Given the description of an element on the screen output the (x, y) to click on. 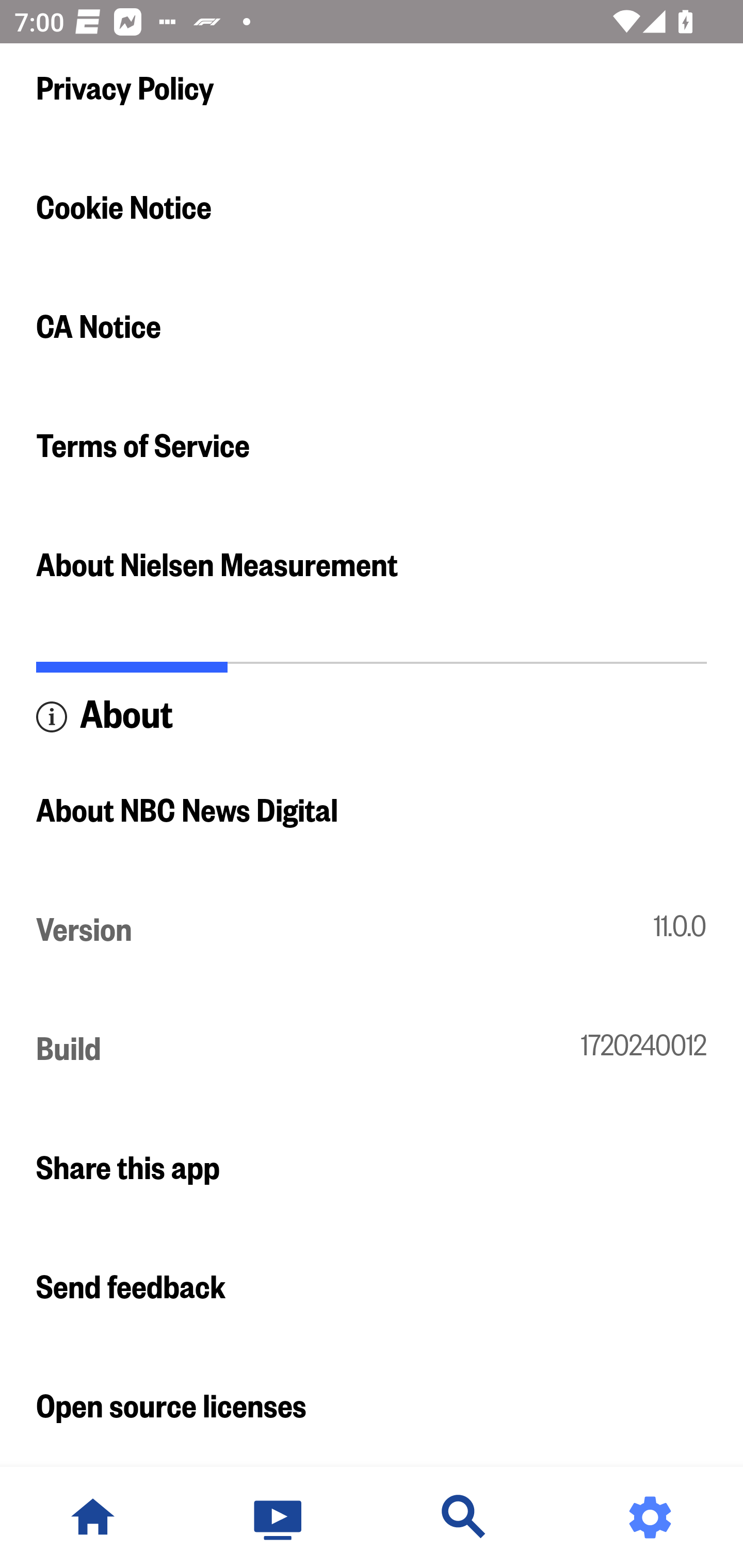
Privacy Policy (371, 88)
Cookie Notice (371, 208)
CA Notice (371, 327)
Terms of Service (371, 446)
About Nielsen Measurement (371, 565)
About NBC News Digital (371, 811)
Version 11.0.0 (371, 930)
Build 1720240012 (371, 1050)
Share this app (371, 1169)
Send feedback (371, 1288)
Open source licenses (371, 1407)
NBC News Home (92, 1517)
Watch (278, 1517)
Discover (464, 1517)
